Given the description of an element on the screen output the (x, y) to click on. 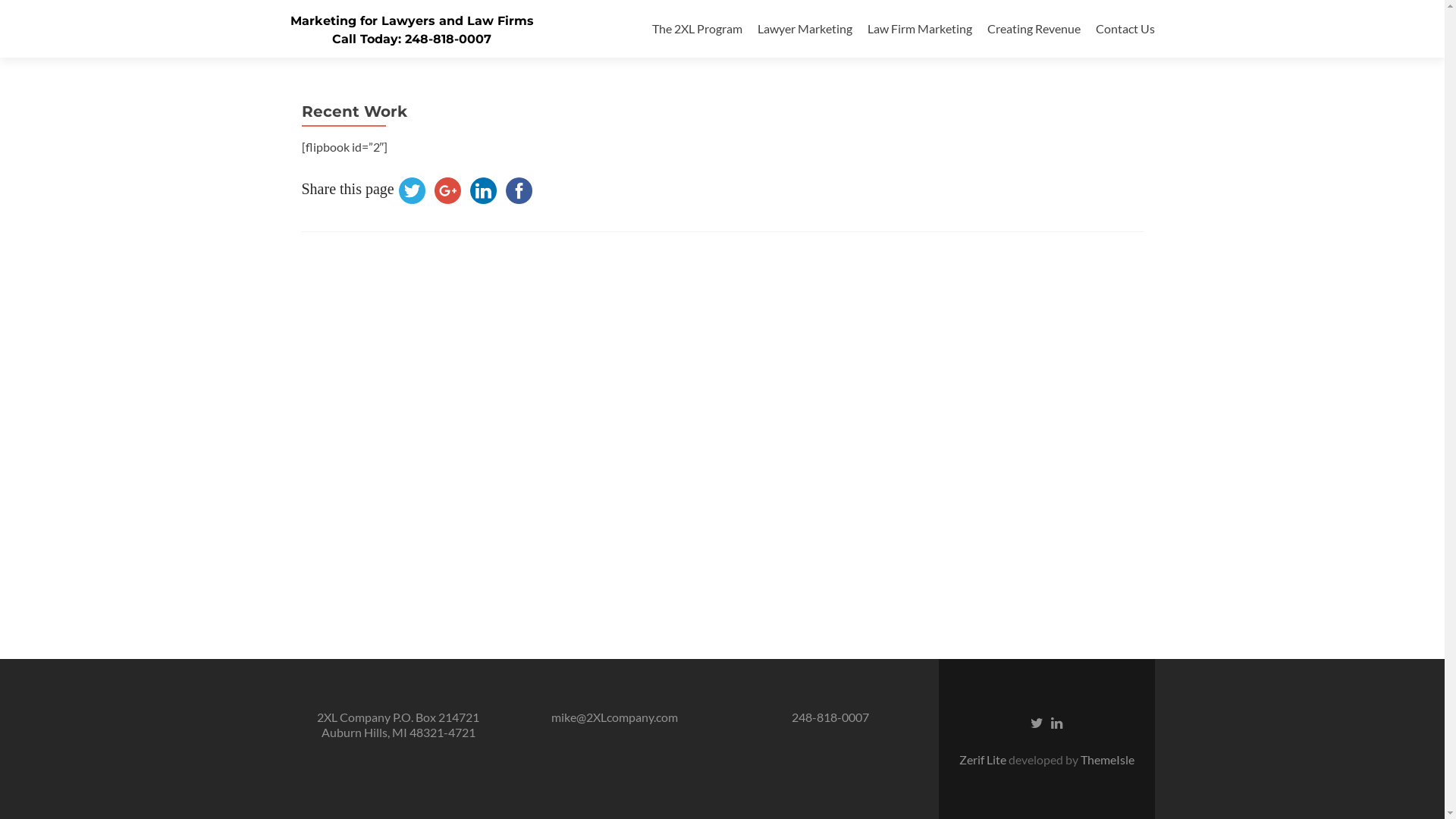
Zerif Lite Element type: text (982, 759)
mike@2XLcompany.com Element type: text (613, 716)
linkedin Element type: hover (483, 190)
google Element type: hover (447, 190)
Marketing for Lawyers and Law Firms Element type: text (411, 20)
ThemeIsle Element type: text (1106, 759)
twitter Element type: hover (411, 190)
Creating Revenue Element type: text (1033, 28)
Law Firm Marketing Element type: text (919, 28)
Lawyer Marketing Element type: text (803, 28)
Contact Us Element type: text (1124, 28)
Twitter link Element type: text (1036, 721)
248-818-0007 Element type: text (830, 716)
The 2XL Program Element type: text (697, 28)
facebook Element type: hover (518, 190)
Linkedin link Element type: text (1056, 721)
